Given the description of an element on the screen output the (x, y) to click on. 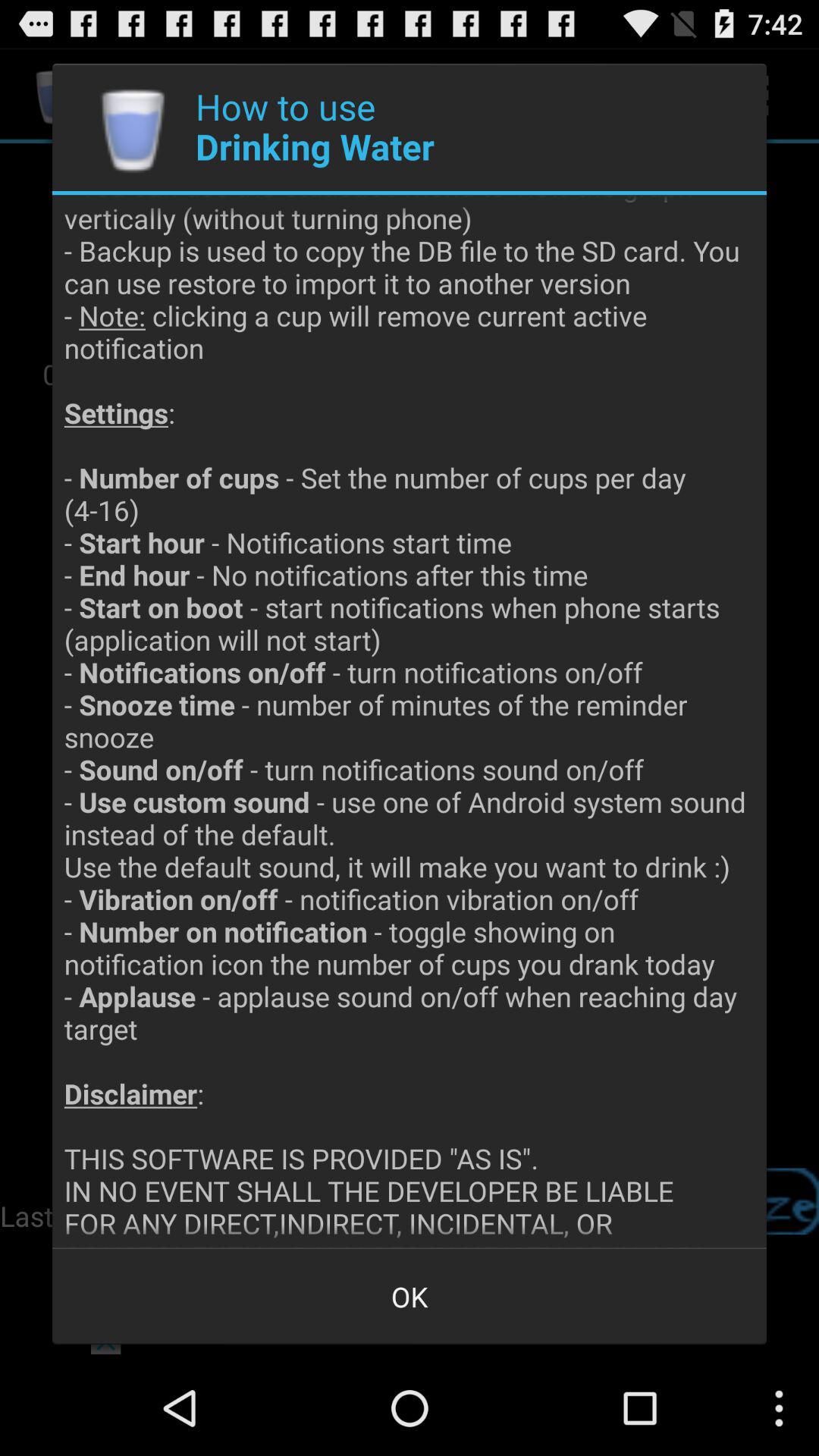
launch app below the drinking water is icon (409, 1296)
